Given the description of an element on the screen output the (x, y) to click on. 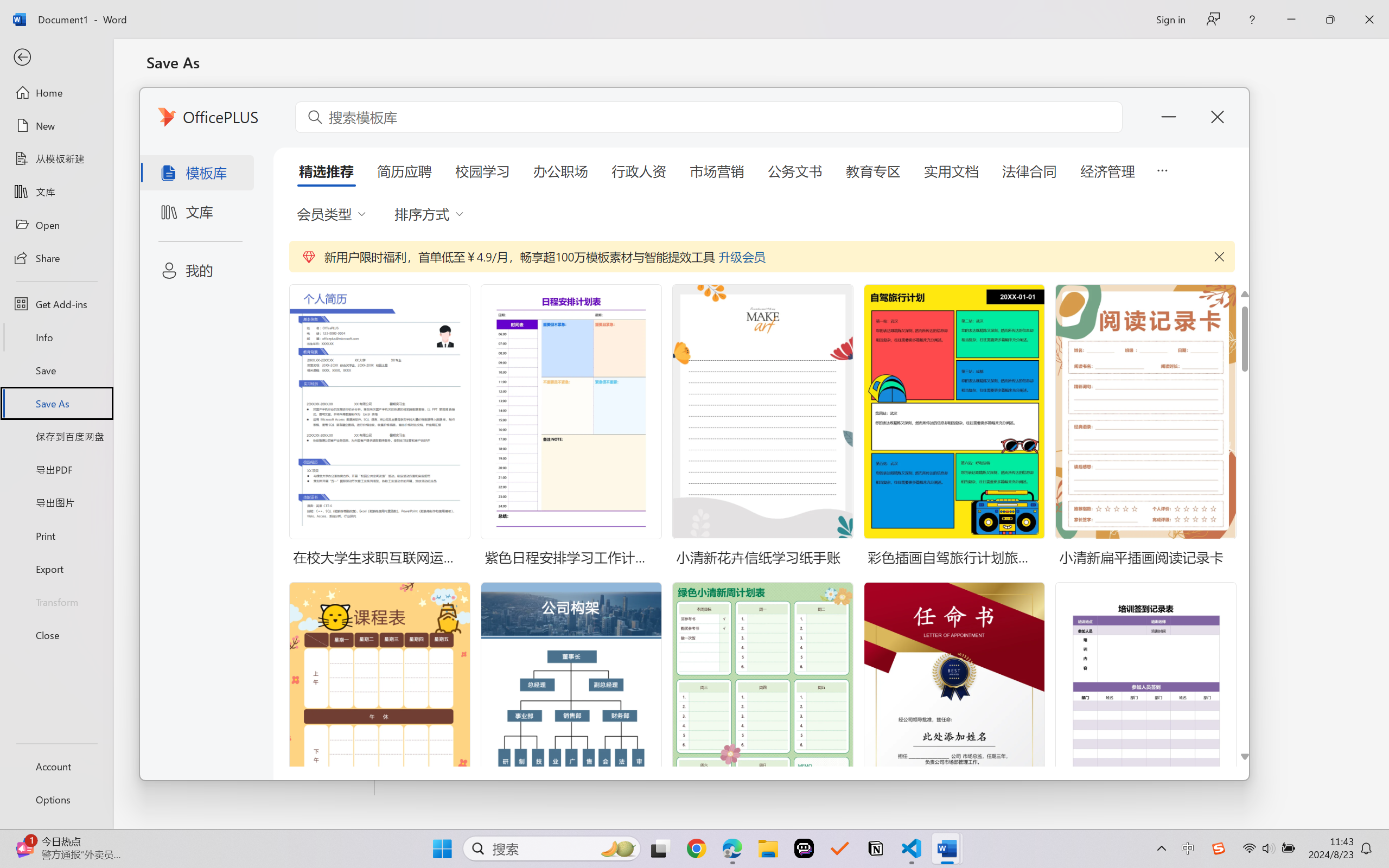
Saving Features (261, 449)
Add a Place (261, 358)
